Given the description of an element on the screen output the (x, y) to click on. 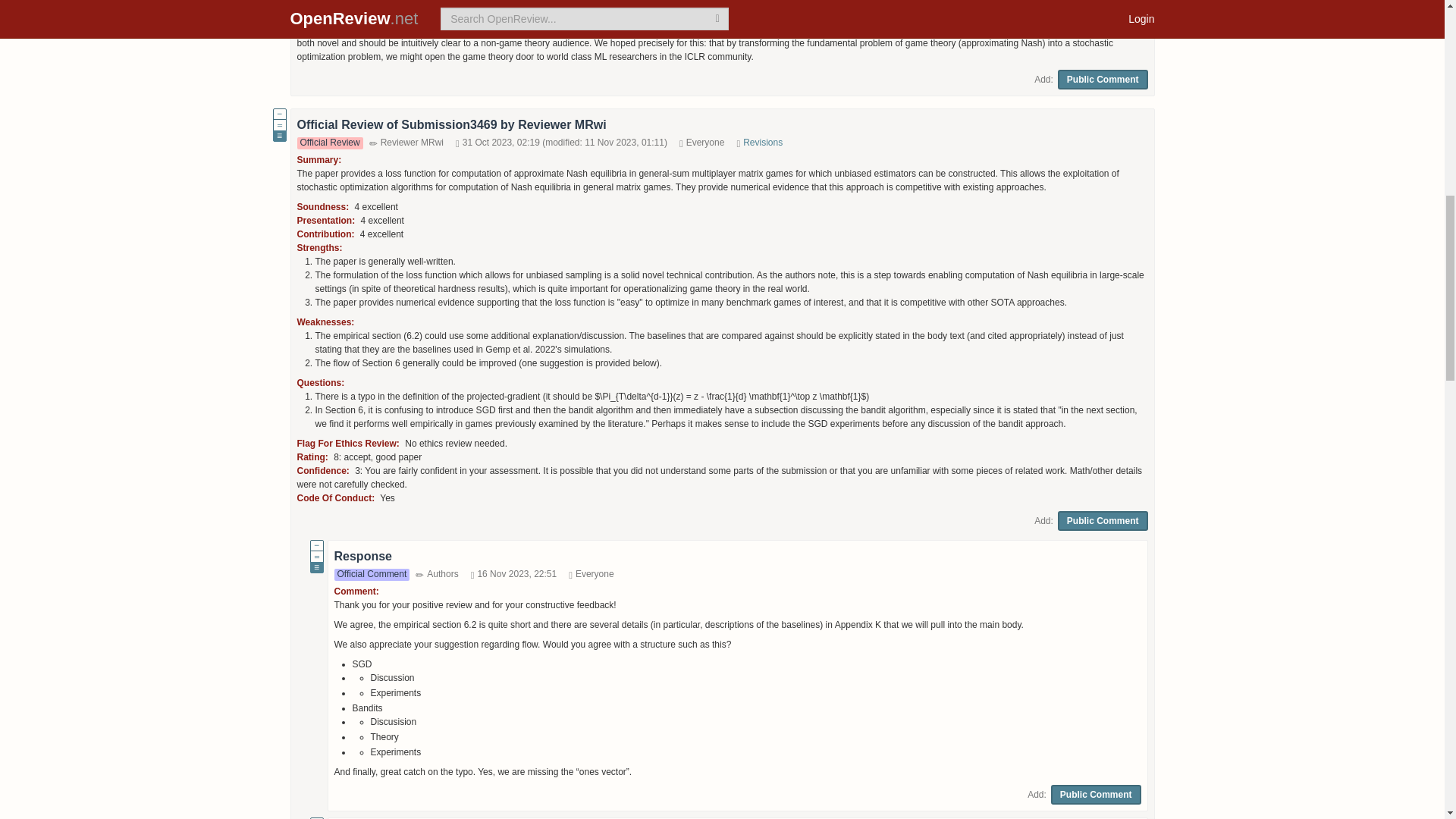
Public Comment (1103, 79)
